Given the description of an element on the screen output the (x, y) to click on. 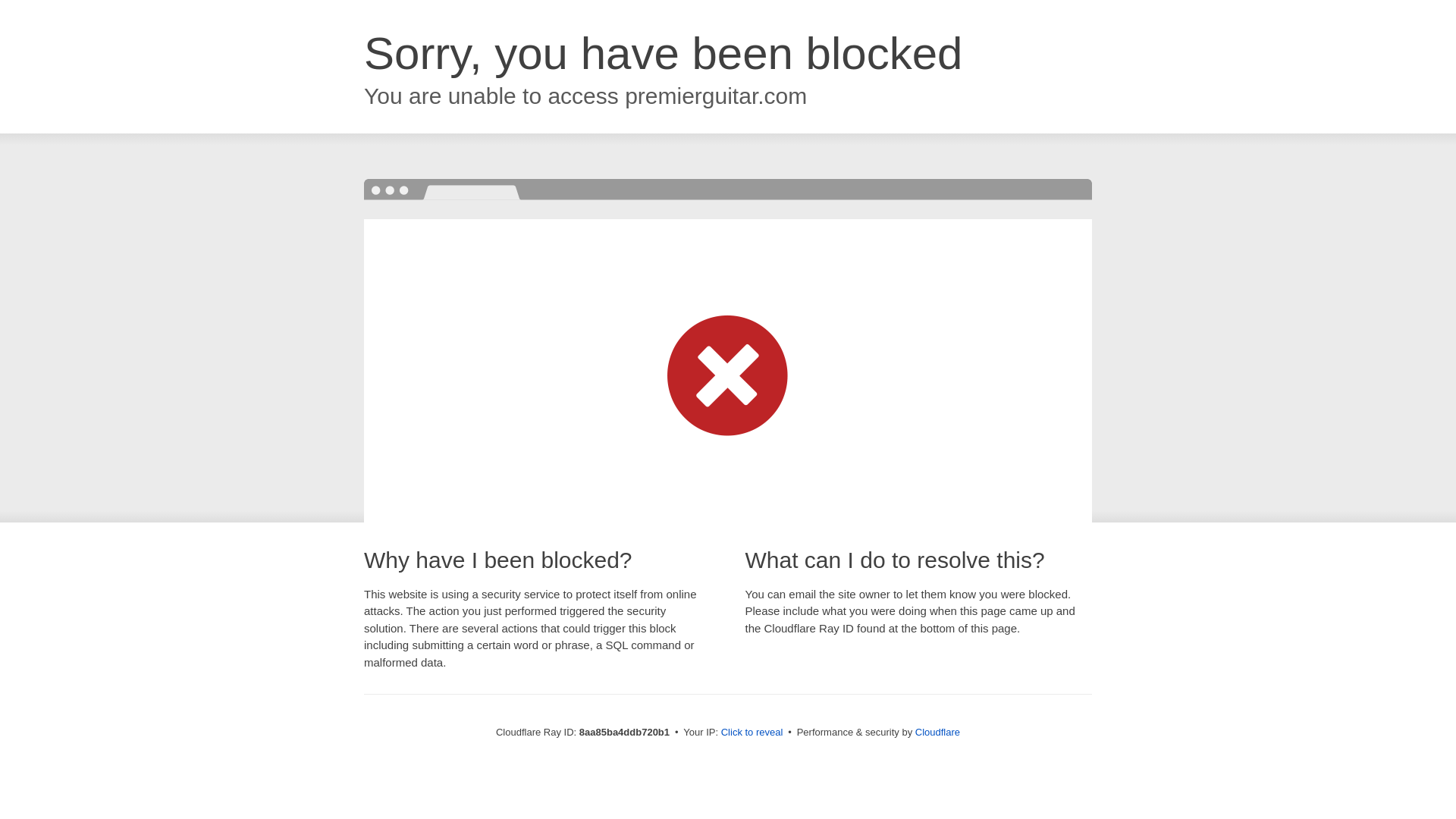
Click to reveal (751, 732)
Cloudflare (937, 731)
